Given the description of an element on the screen output the (x, y) to click on. 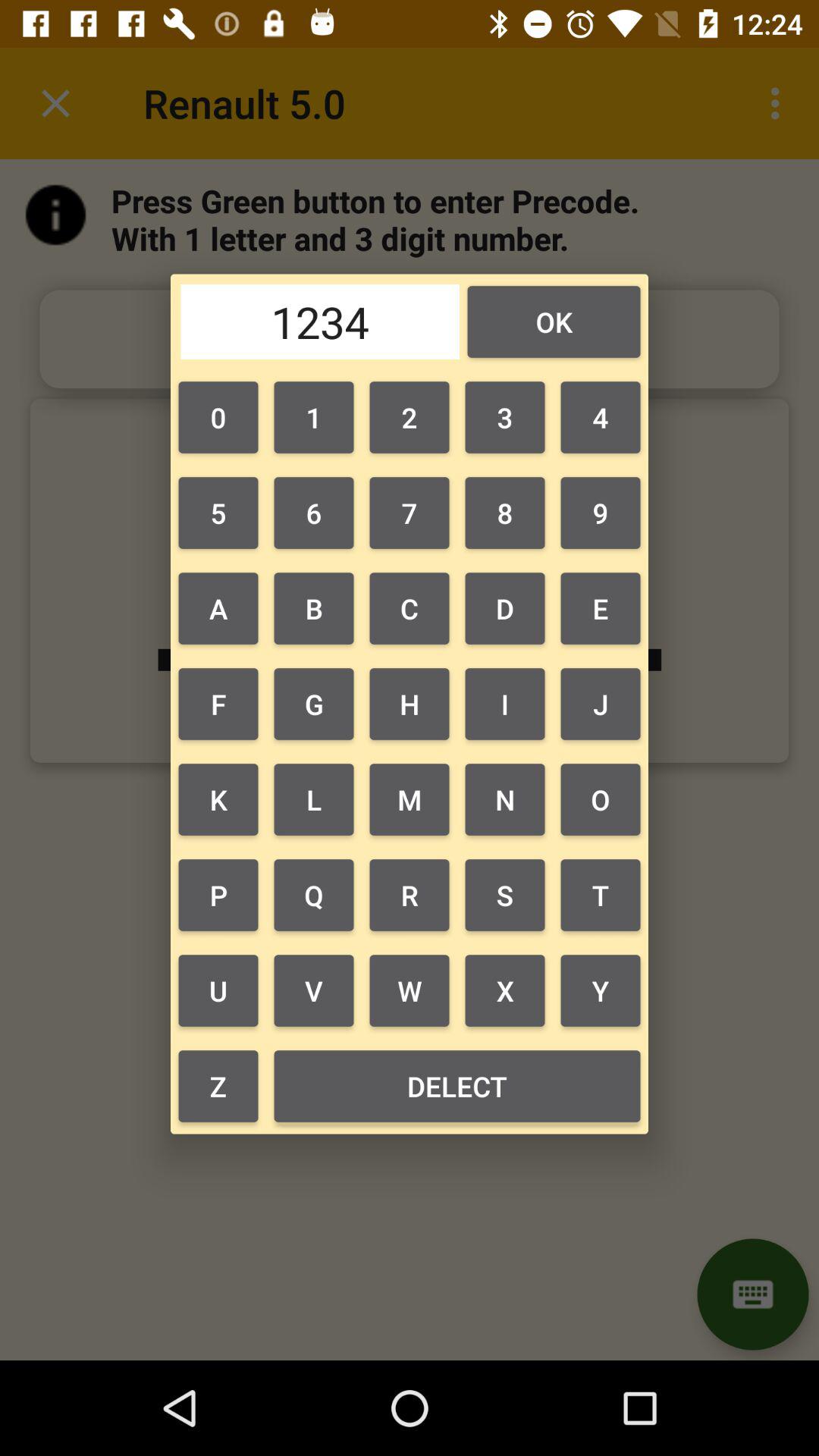
click button below 7 button (504, 608)
